Given the description of an element on the screen output the (x, y) to click on. 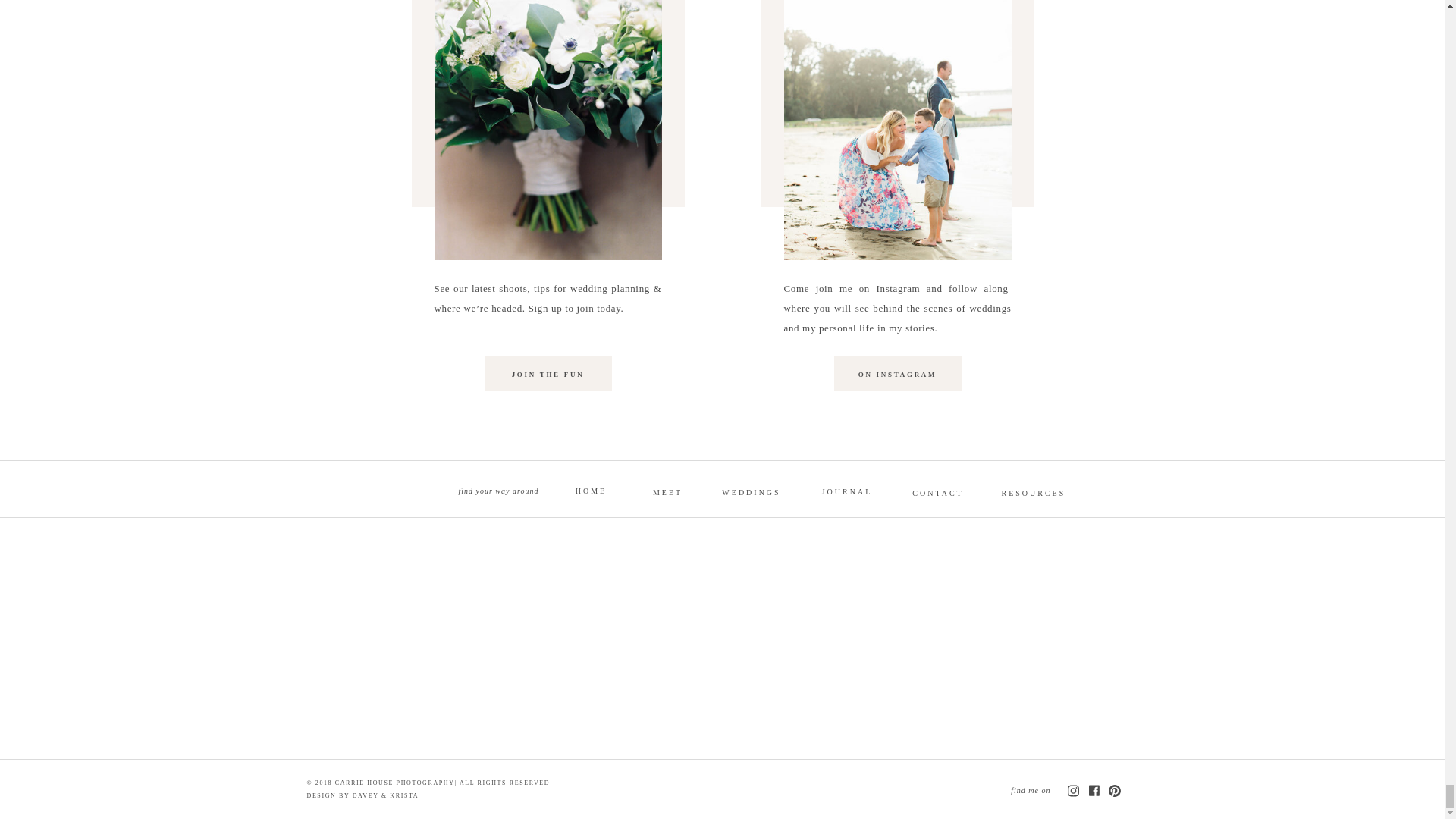
ON INSTAGRAM (896, 375)
JOURNAL (846, 489)
CONTACT (937, 491)
RESOURCES (1033, 491)
MEET (667, 490)
WEDDINGS (751, 490)
HOME (591, 489)
